Given the description of an element on the screen output the (x, y) to click on. 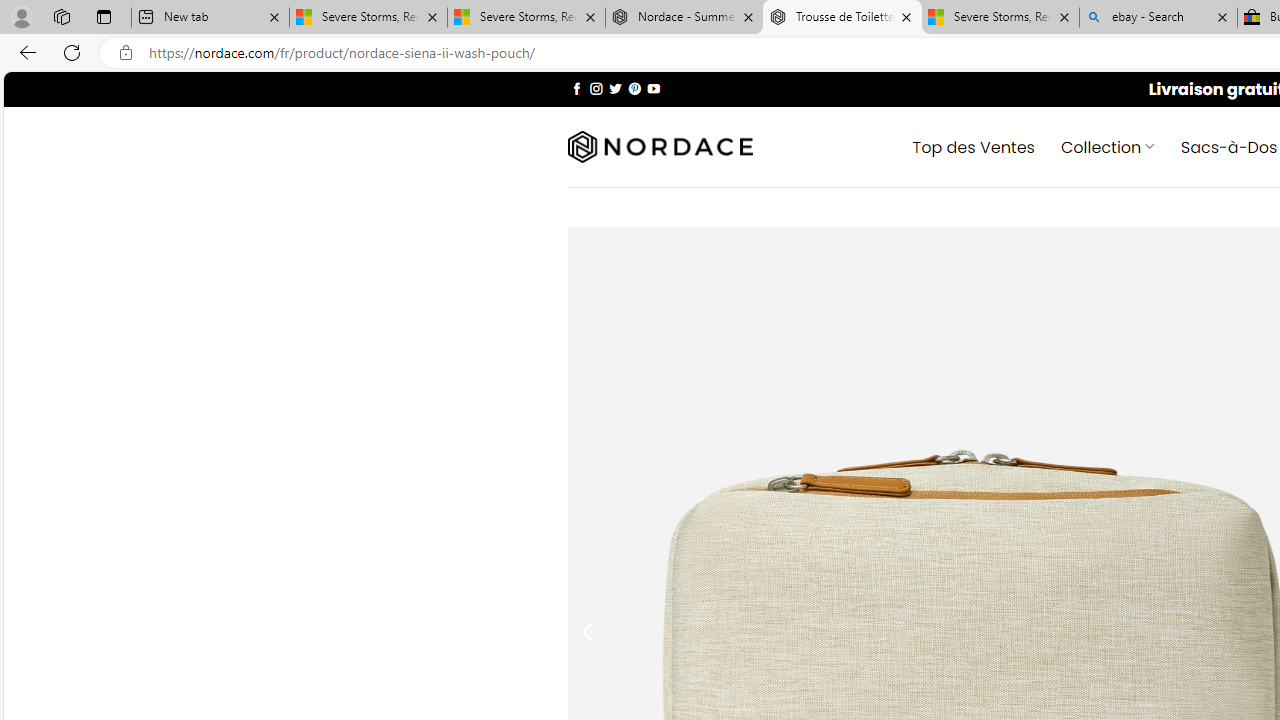
 Top des Ventes (973, 146)
Nous suivre sur Youtube (653, 88)
  Top des Ventes (973, 146)
